Given the description of an element on the screen output the (x, y) to click on. 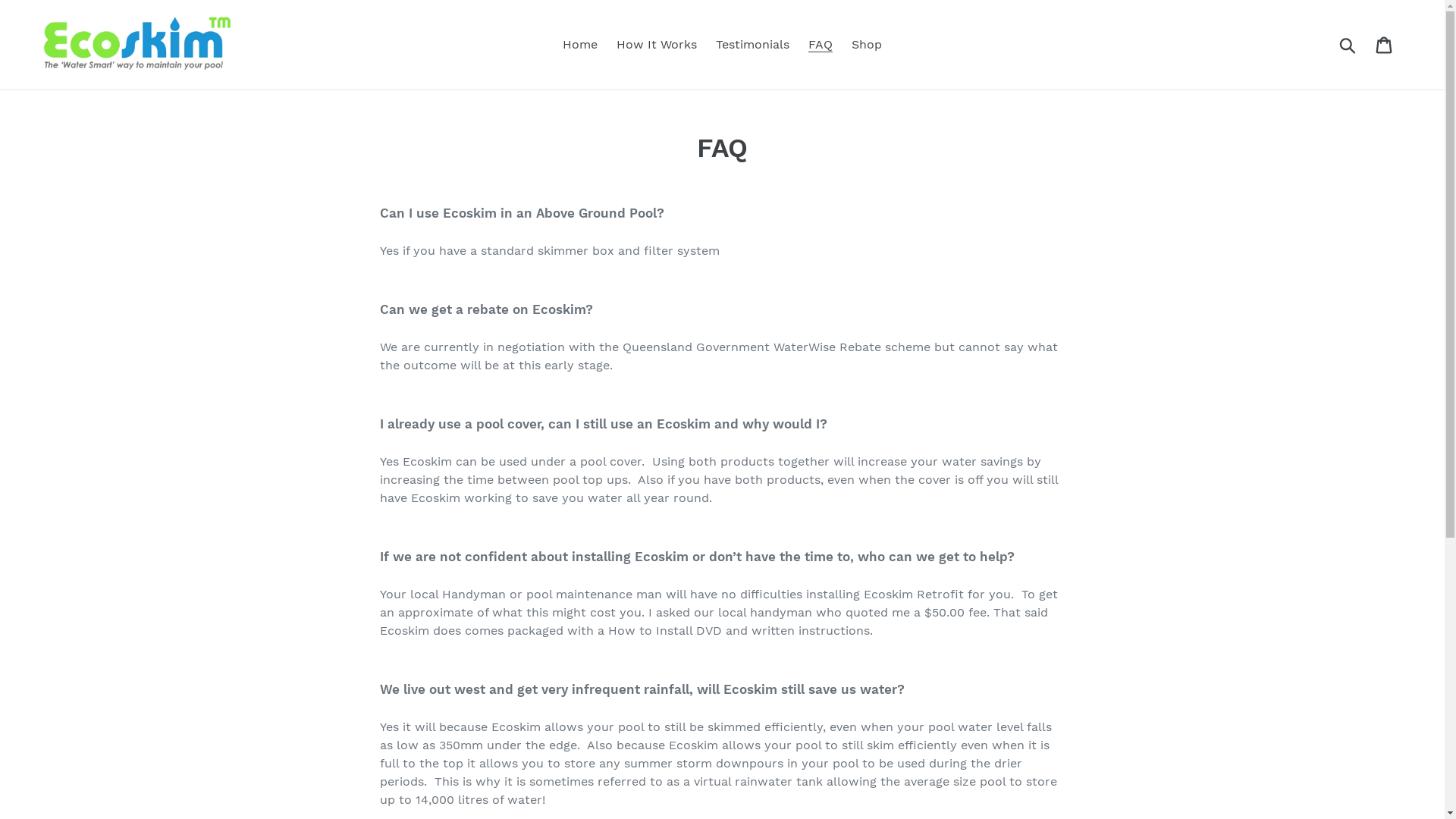
How It Works Element type: text (656, 44)
Submit Element type: text (1348, 44)
Shop Element type: text (866, 44)
Cart Element type: text (1384, 45)
Home Element type: text (580, 44)
Testimonials Element type: text (752, 44)
FAQ Element type: text (820, 44)
